Given the description of an element on the screen output the (x, y) to click on. 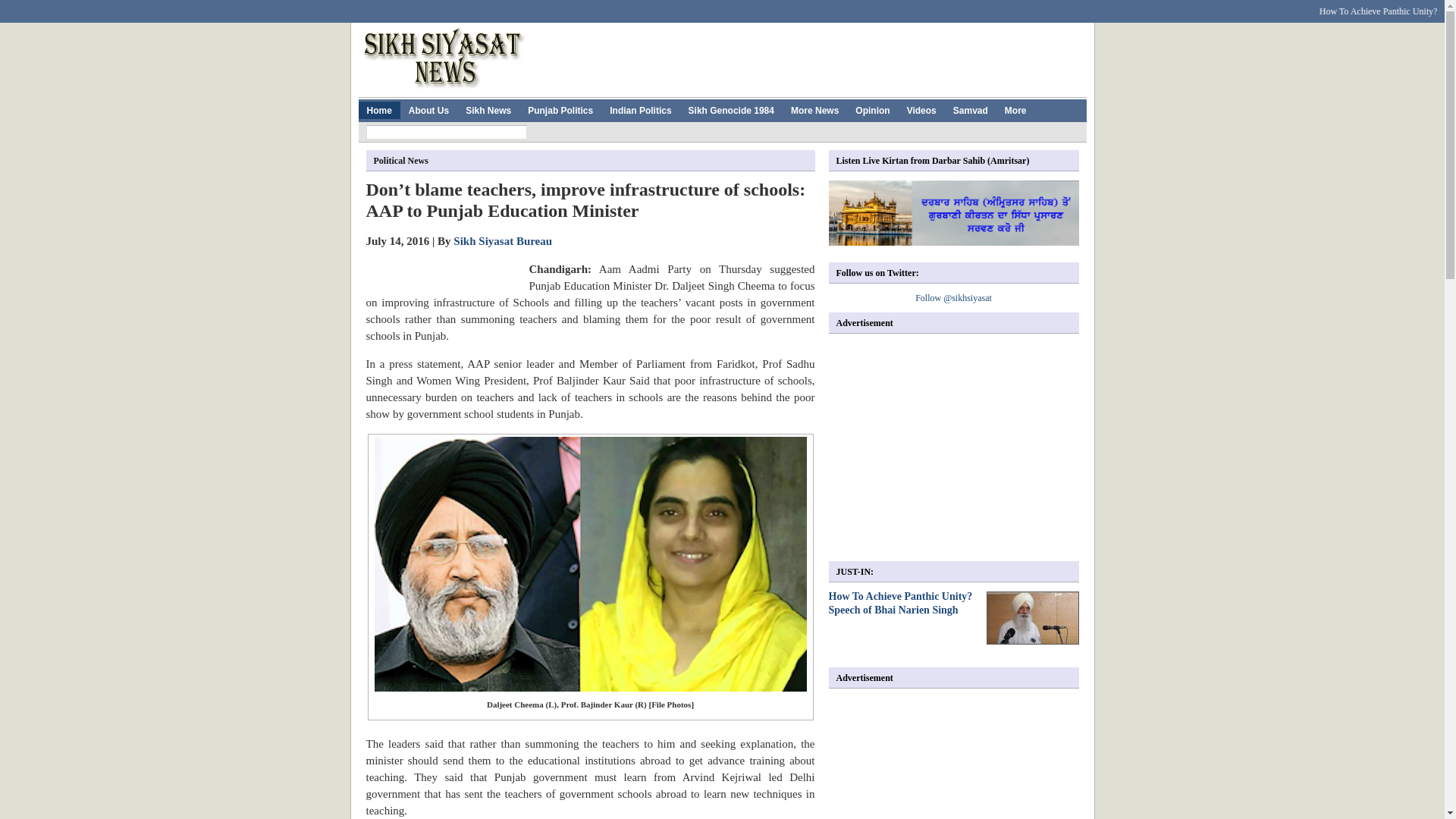
Posts by Sikh Siyasat Bureau (501, 241)
Advertisement (955, 447)
Home (378, 109)
Twitter (502, 6)
Sikh Genocide 1984 (731, 109)
Facebook (471, 6)
Videos (921, 109)
More (1015, 109)
More News (815, 109)
Subscribe to our RSS feed (1046, 6)
Advertisement (810, 56)
Opinion (872, 109)
About Us (428, 109)
Indian Politics (640, 109)
Subscribe to our RSS feed (1046, 6)
